Given the description of an element on the screen output the (x, y) to click on. 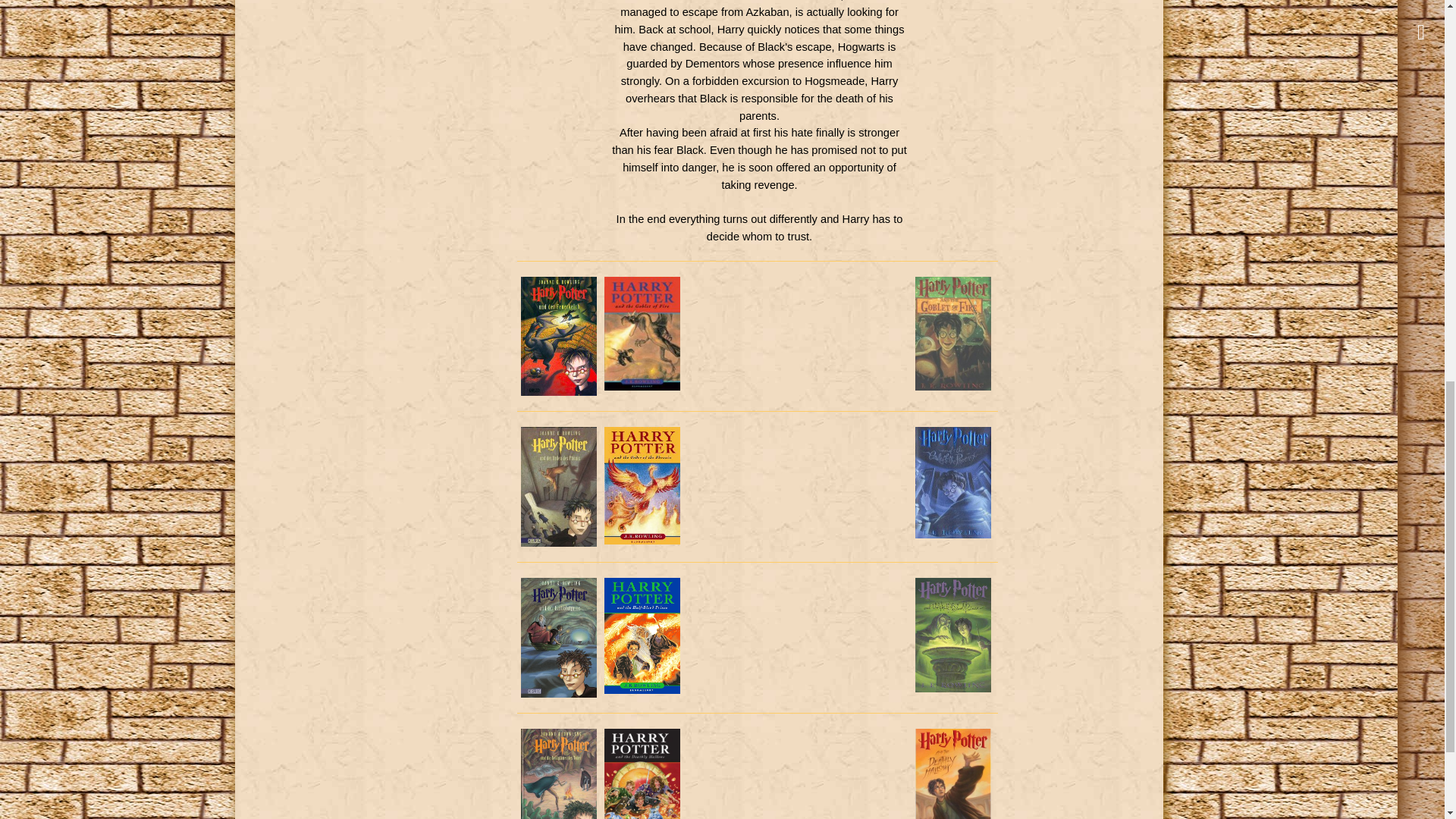
Harry Potter Buch 4 - amerikanisch (952, 333)
Harry Potter Band 5 (557, 486)
Harry Potter Buch 5 - englisch (641, 485)
Harry Potter Band 4 (557, 336)
Harry Potter Buch 5 - amerikanisch (952, 482)
Harry Potter Buch 4 - englisch (641, 333)
